Given the description of an element on the screen output the (x, y) to click on. 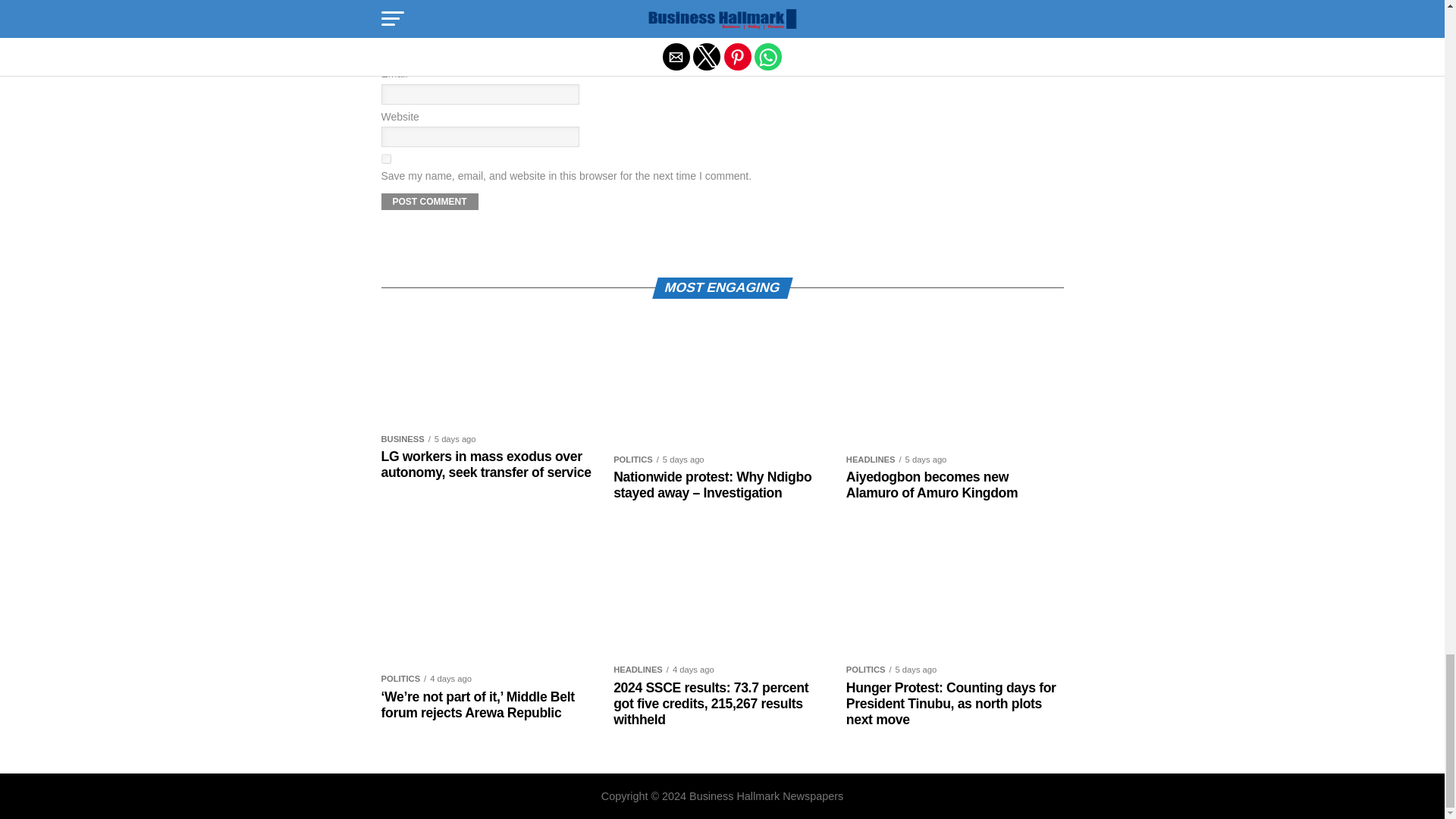
yes (385, 158)
Post Comment (428, 201)
Post Comment (428, 201)
